Given the description of an element on the screen output the (x, y) to click on. 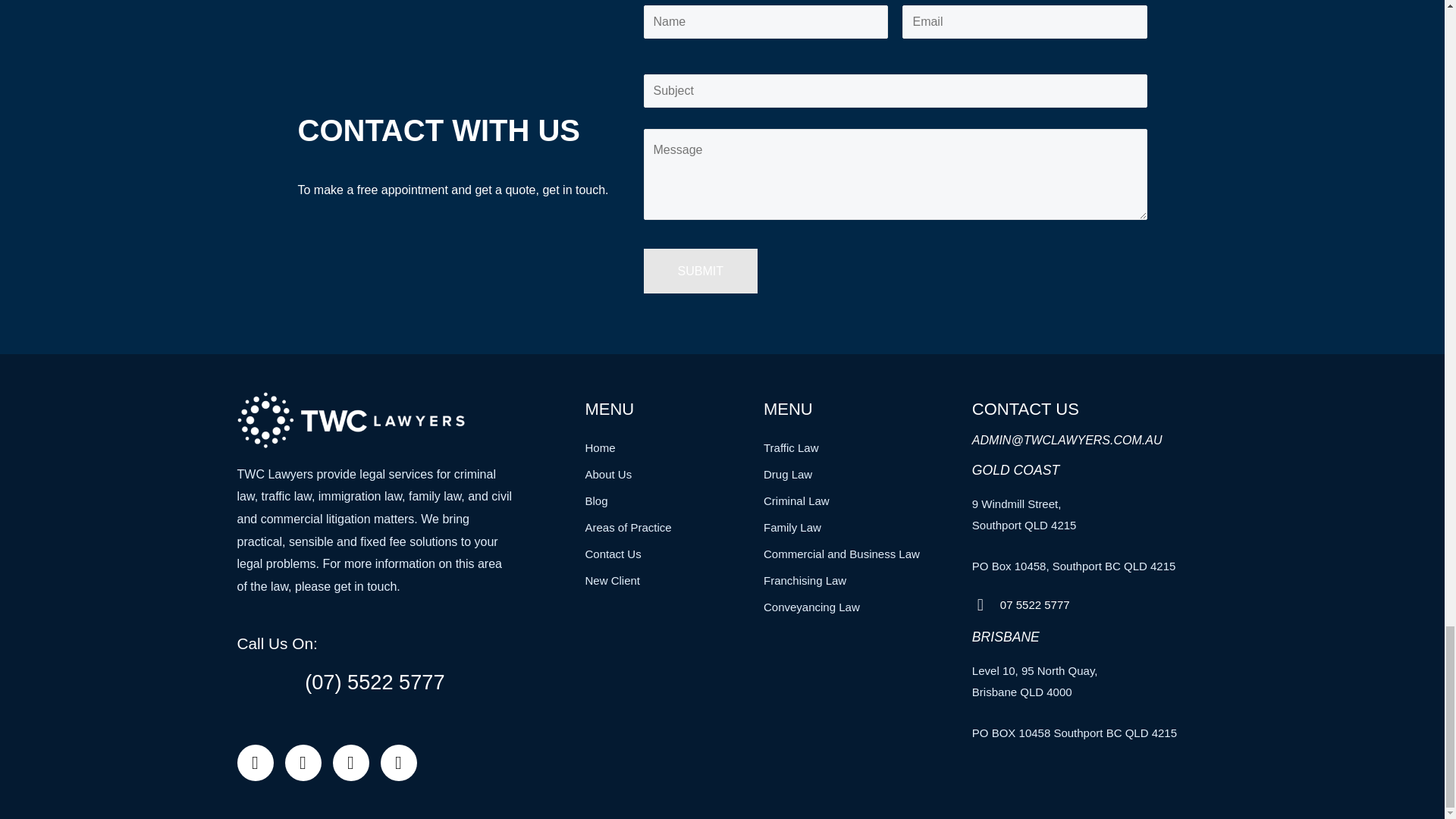
Submit (700, 271)
